Given the description of an element on the screen output the (x, y) to click on. 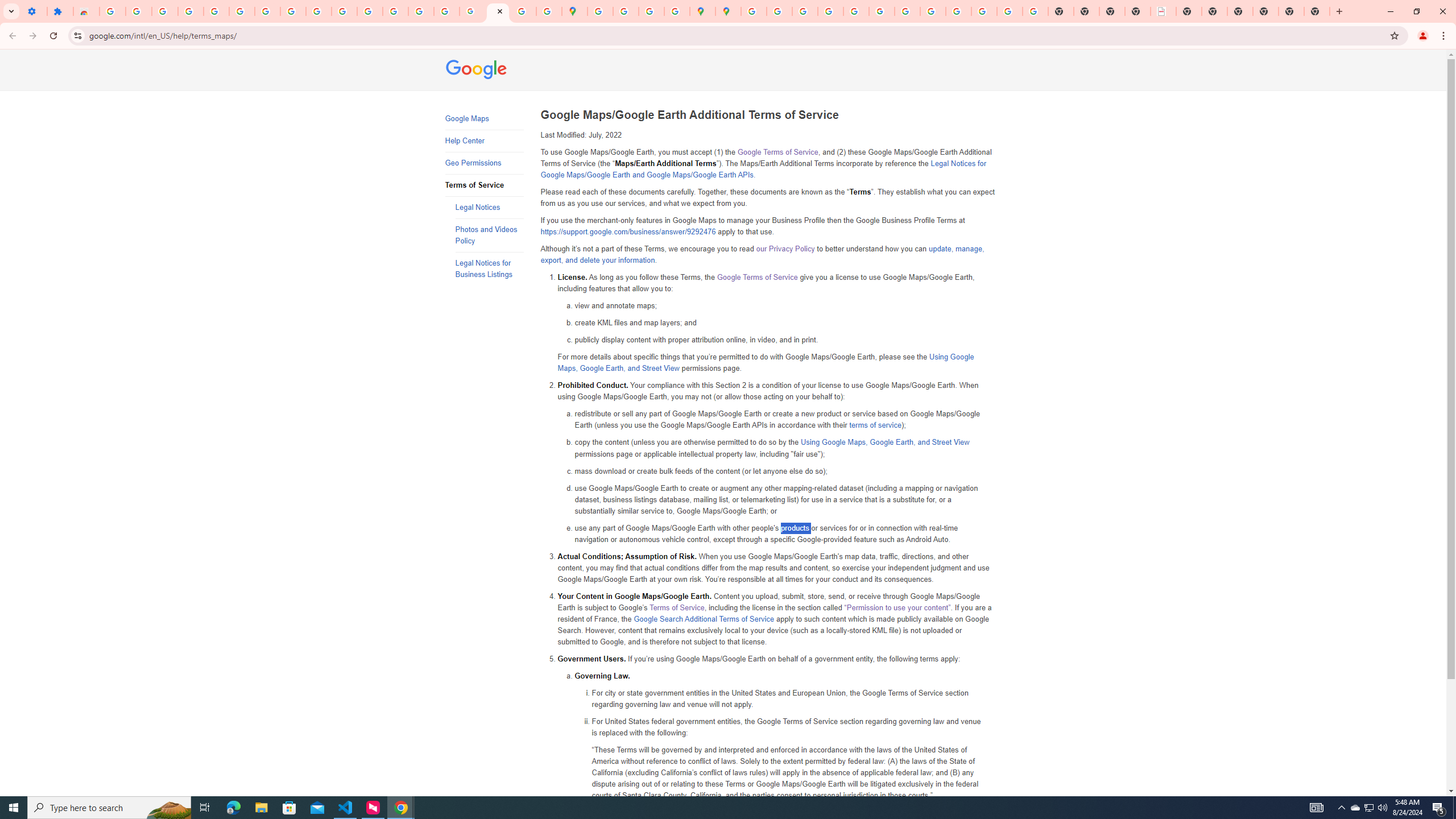
Privacy Help Center - Policies Help (830, 11)
New Tab (1316, 11)
Reviews: Helix Fruit Jump Arcade Game (86, 11)
Photos and Videos Policy (489, 235)
